Given the description of an element on the screen output the (x, y) to click on. 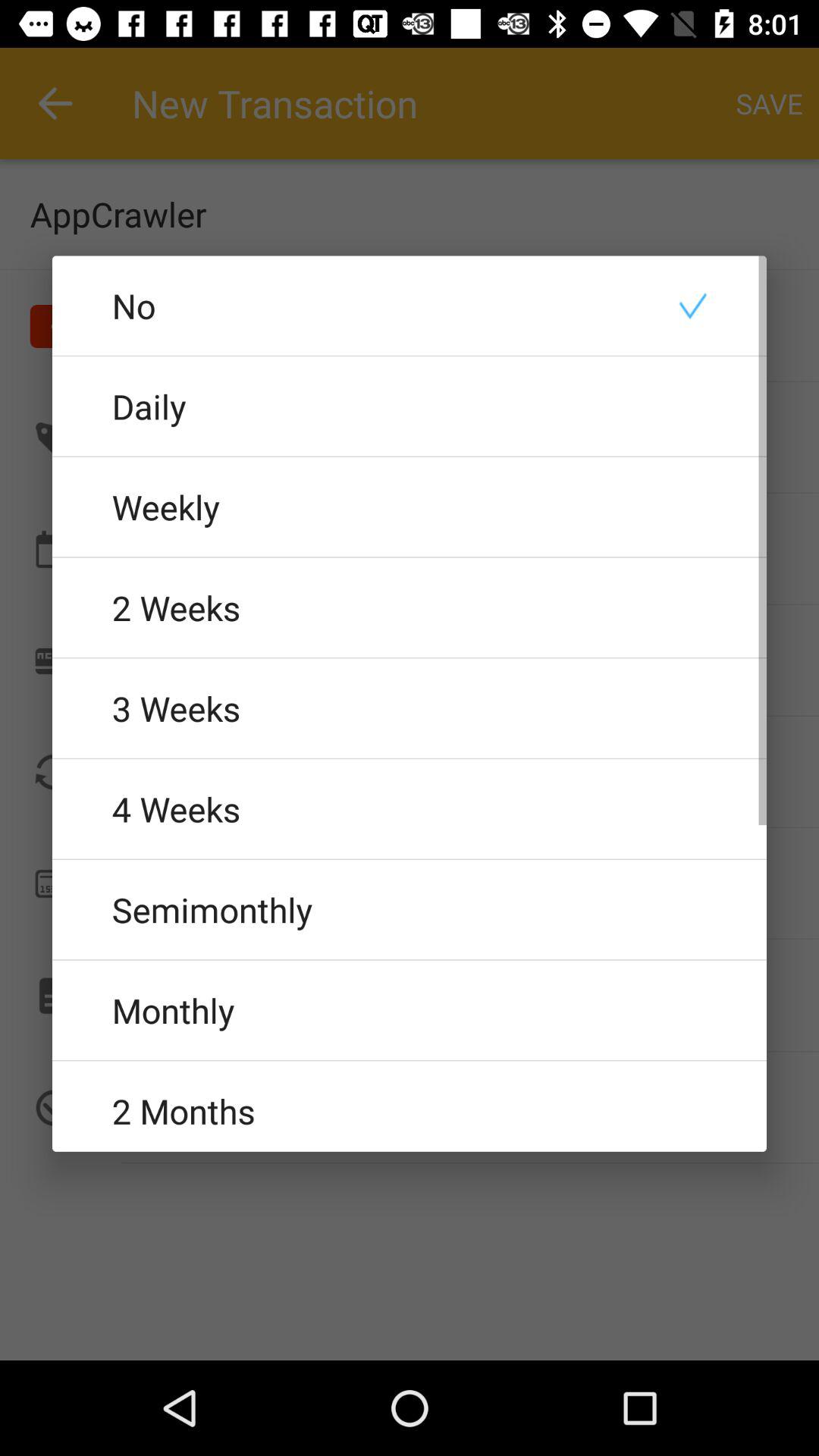
swipe until the daily icon (409, 406)
